Given the description of an element on the screen output the (x, y) to click on. 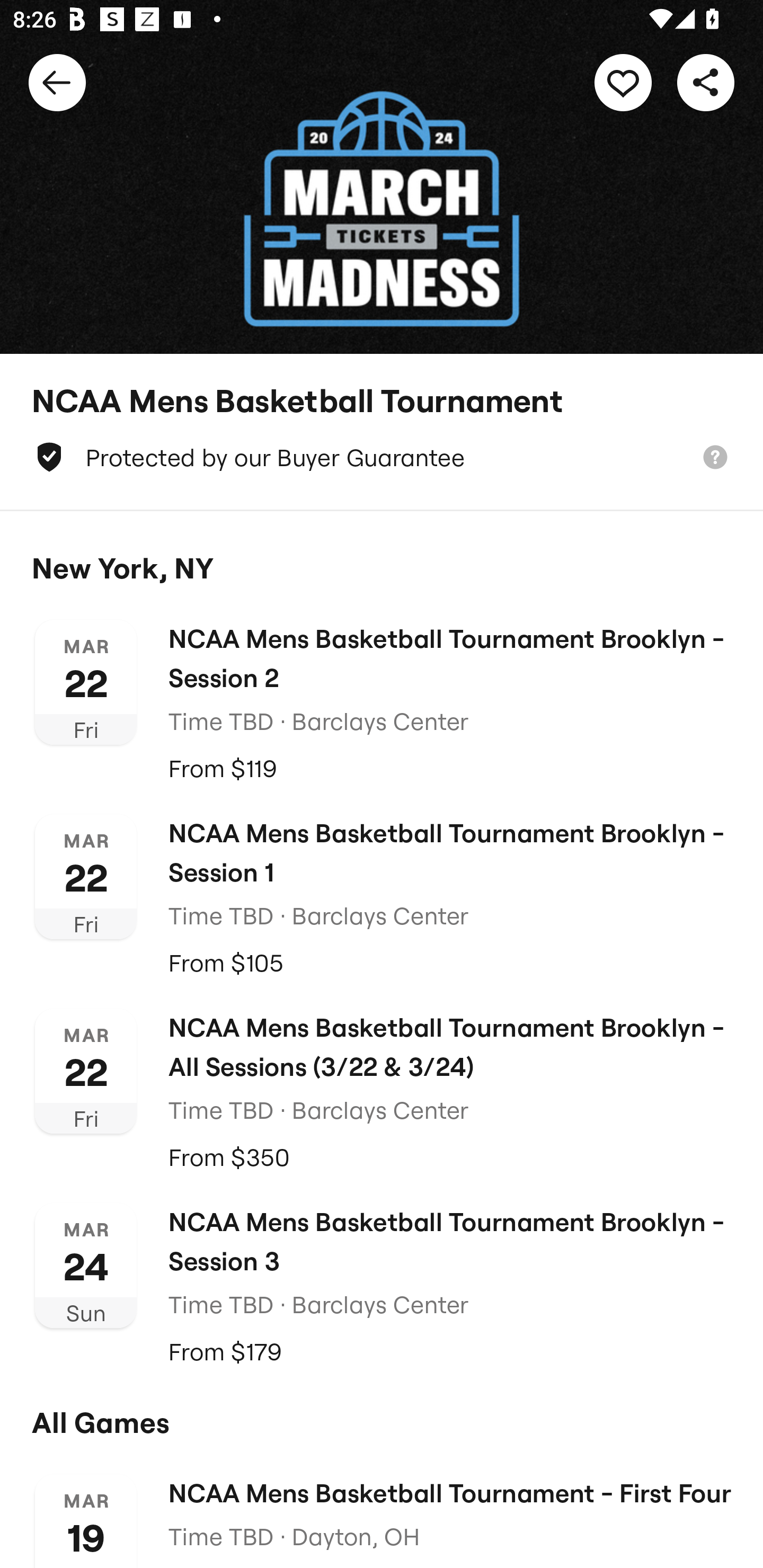
Back (57, 81)
Track this performer (623, 81)
Share this performer (705, 81)
Protected by our Buyer Guarantee Learn more (381, 456)
